Given the description of an element on the screen output the (x, y) to click on. 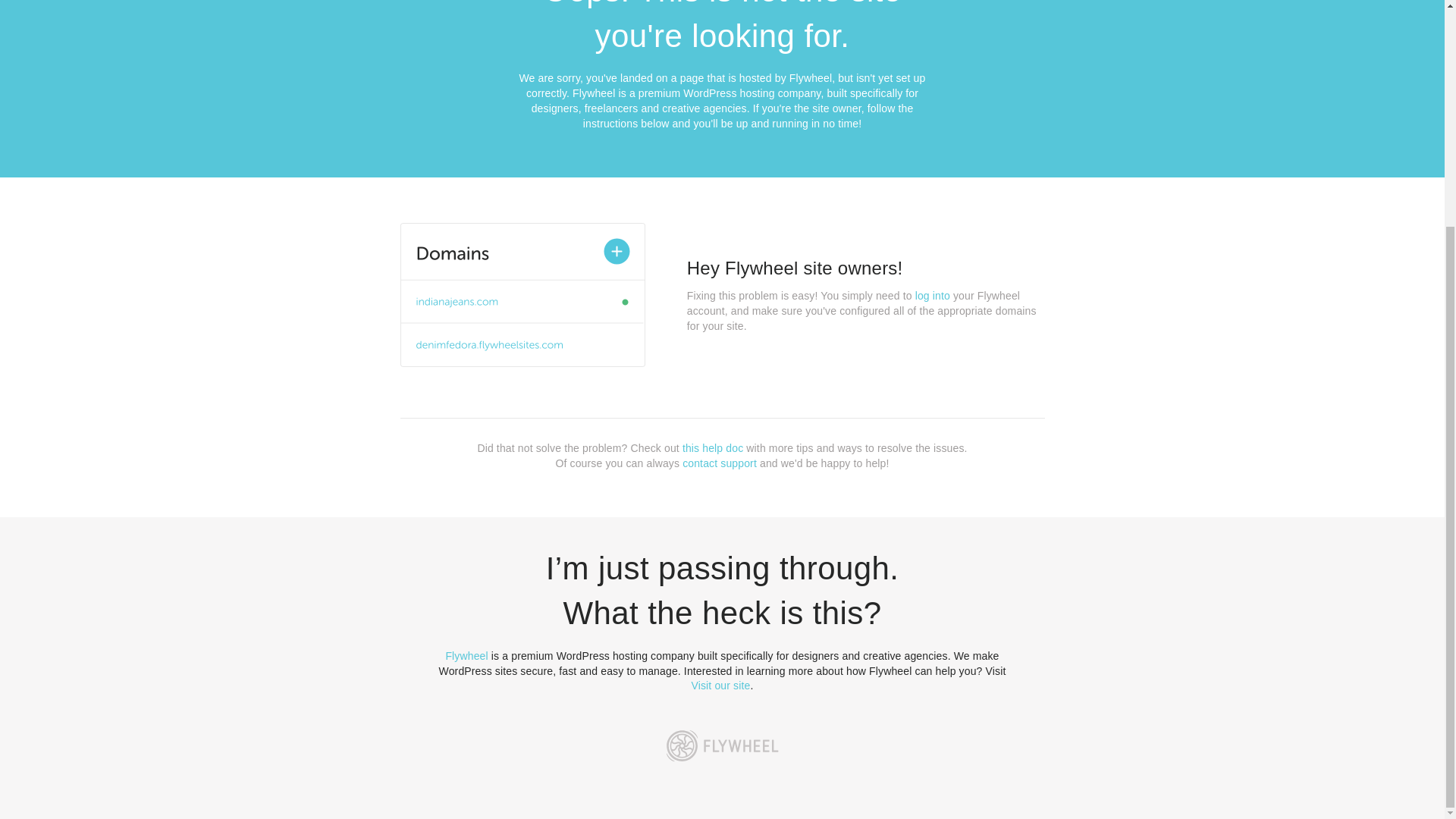
contact support (719, 463)
log into (932, 295)
Flywheel (466, 655)
Visit our site (721, 685)
this help doc (712, 448)
